Given the description of an element on the screen output the (x, y) to click on. 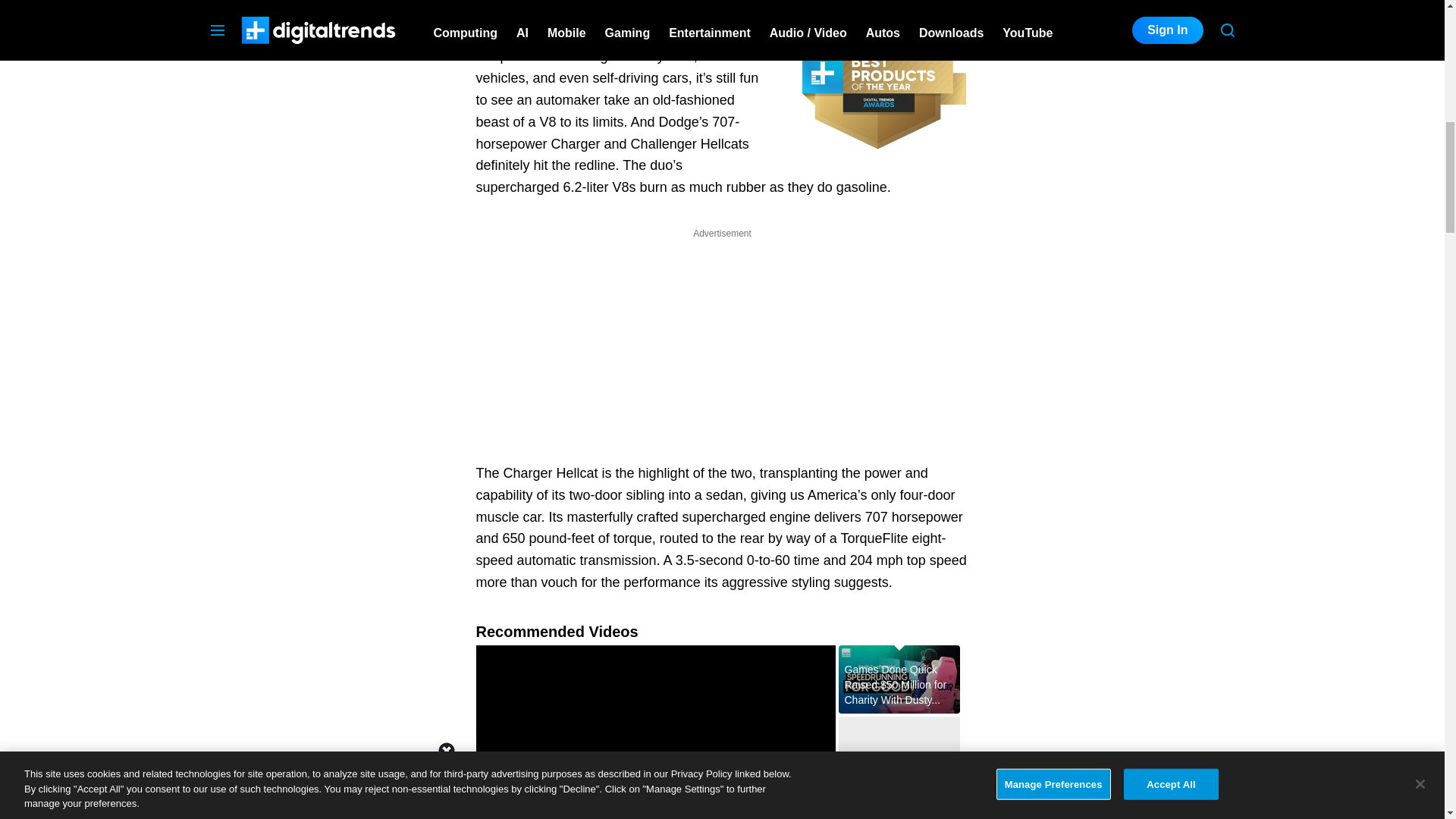
3rd party ad content (721, 337)
